Given the description of an element on the screen output the (x, y) to click on. 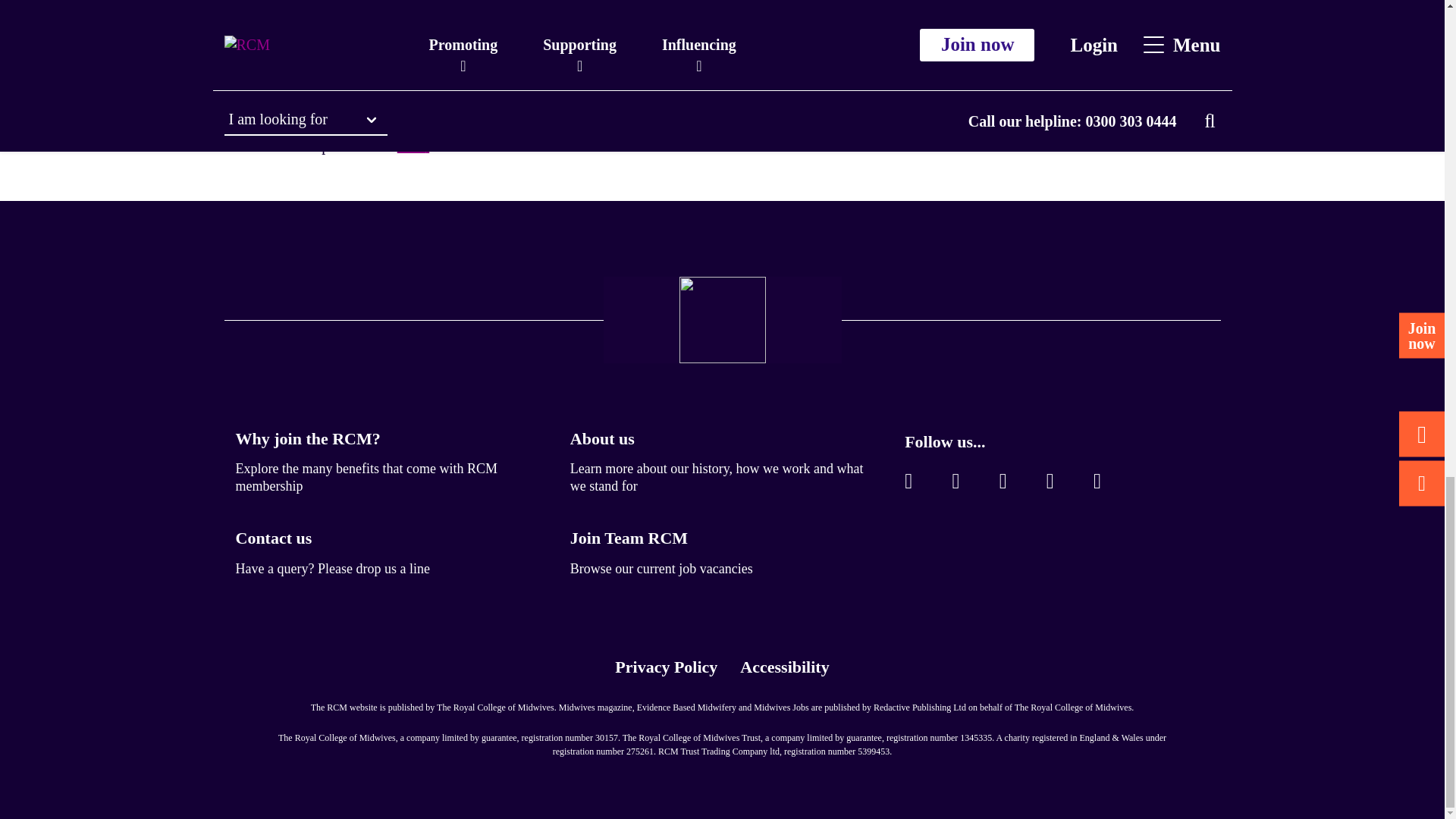
Contact us (272, 537)
Join Team RCM (628, 537)
About us (602, 438)
Why join the RCM? (307, 438)
